Given the description of an element on the screen output the (x, y) to click on. 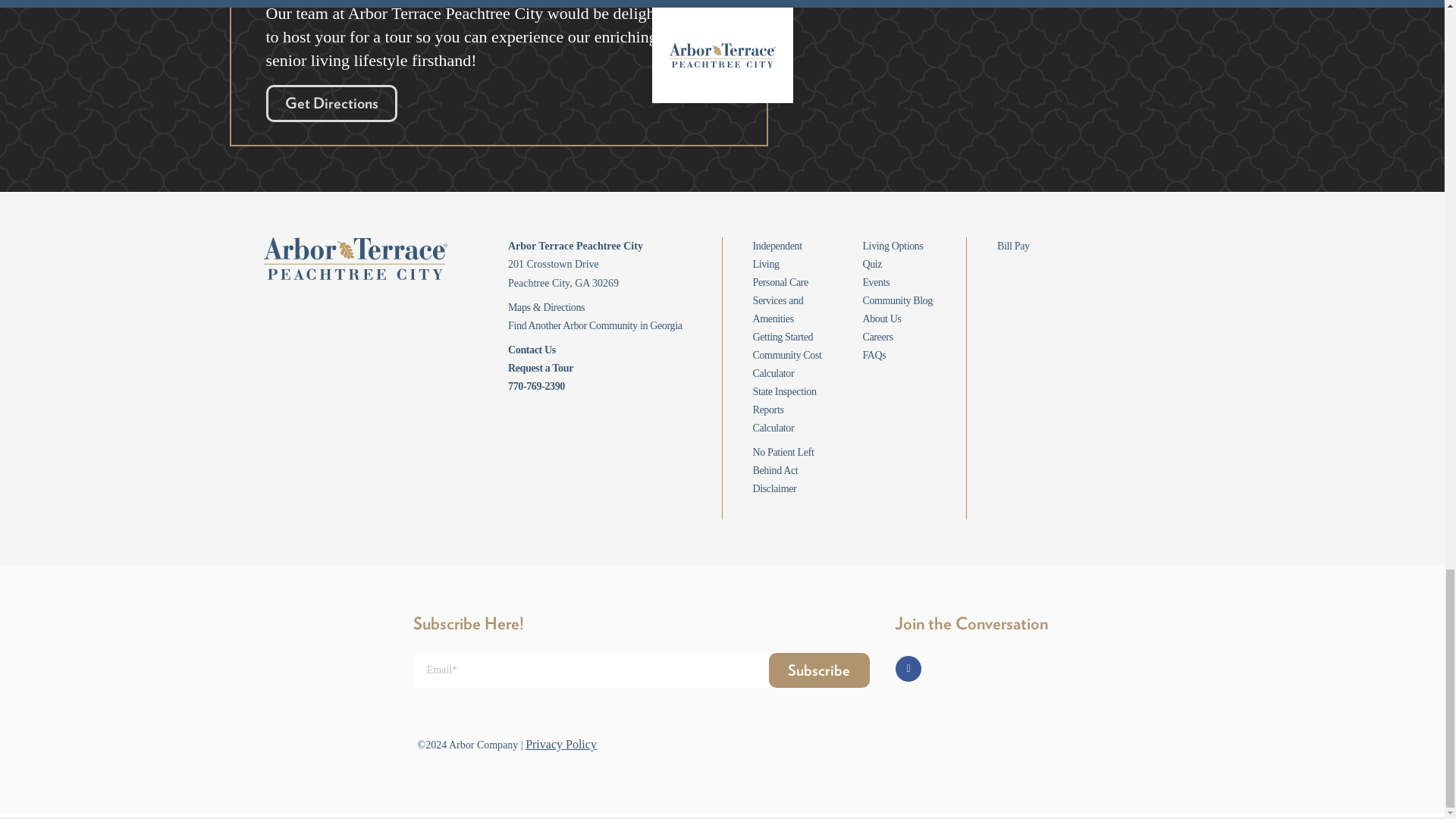
Services and Amenities (777, 309)
Request a Tour (540, 367)
FAQs (873, 355)
Careers (876, 337)
Events (875, 282)
State Inspection Reports Calculator (783, 409)
Contact Us (532, 349)
Community Cost Calculator (786, 364)
Get Directions (330, 103)
Community Blog (897, 300)
Find Another Arbor Community in Georgia (595, 325)
770-769-2390 (536, 386)
Subscribe (818, 669)
Personal Care (780, 282)
Living Options Quiz (892, 255)
